Given the description of an element on the screen output the (x, y) to click on. 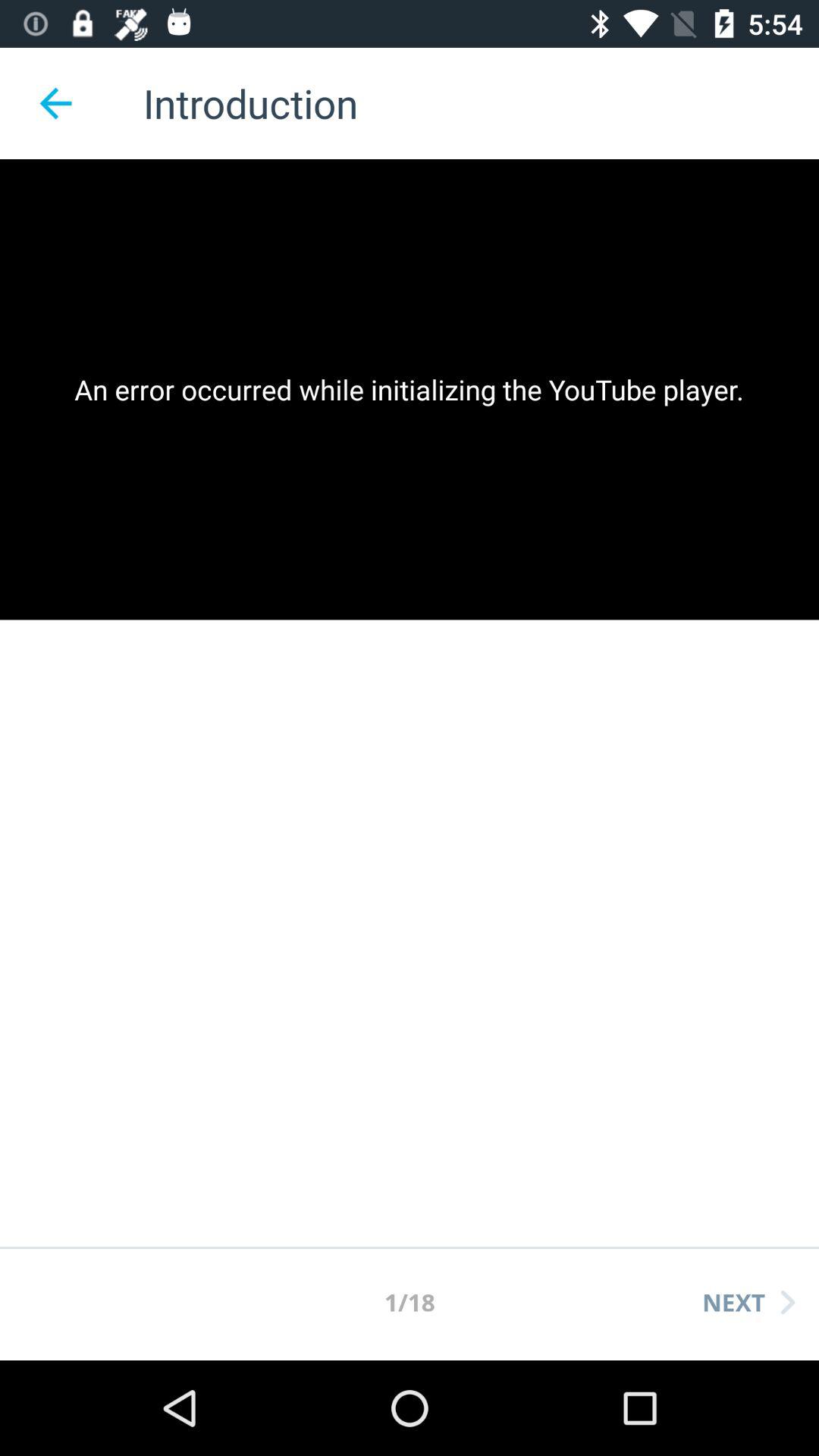
tap icon at the bottom right corner (748, 1302)
